Given the description of an element on the screen output the (x, y) to click on. 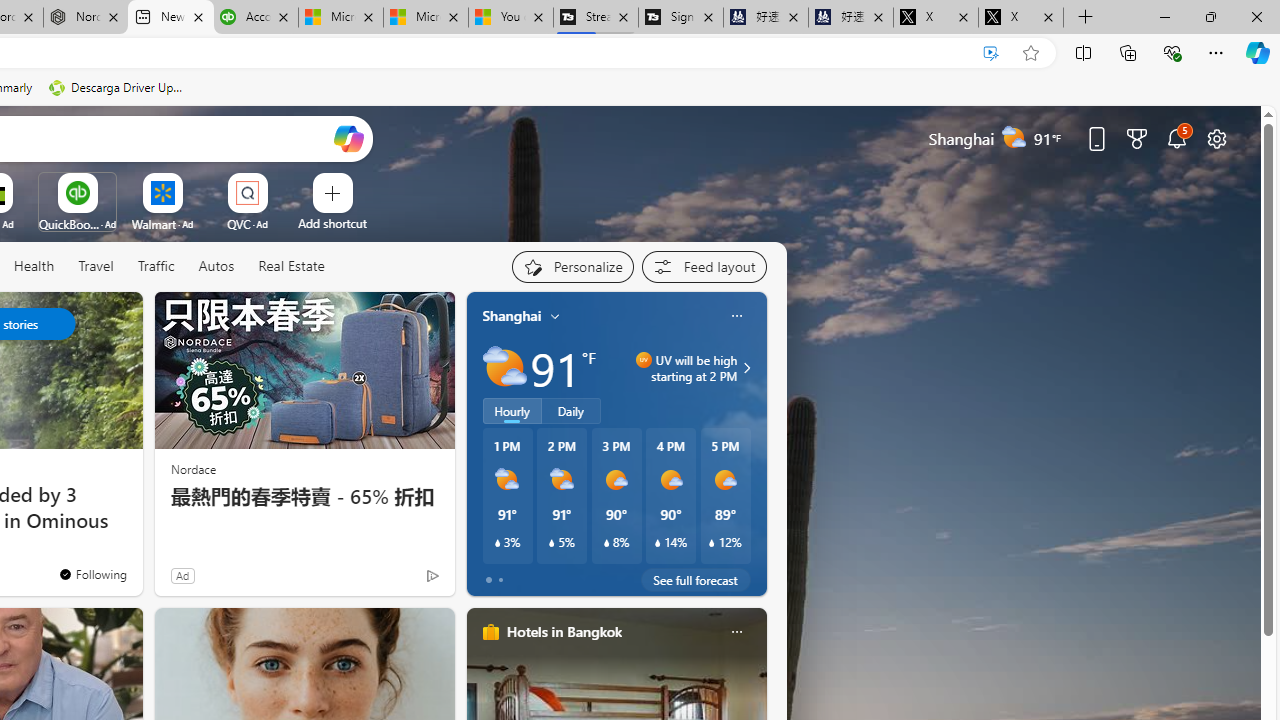
Class: icon-img (736, 632)
Autos (215, 265)
Health (34, 265)
Real Estate (290, 267)
tab-1 (500, 579)
tab-0 (488, 579)
